Given the description of an element on the screen output the (x, y) to click on. 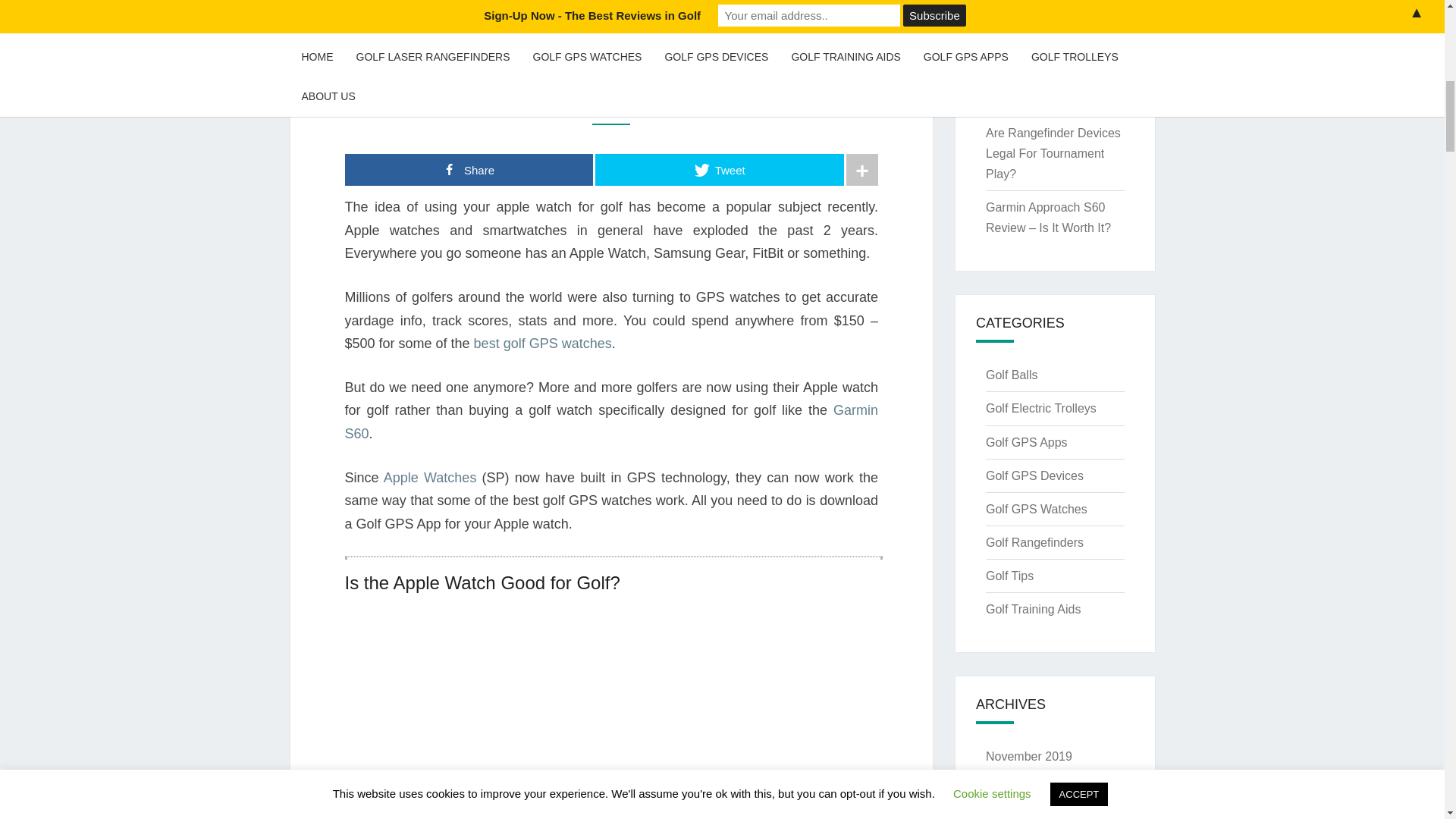
7:36 pm (593, 105)
Garmin S60 (610, 421)
Share (467, 169)
Admin (672, 105)
Tweet (719, 169)
best golf GPS watches (542, 343)
View all posts by Admin (672, 105)
October 2, 2019 (593, 105)
Apple Watches (430, 477)
